Given the description of an element on the screen output the (x, y) to click on. 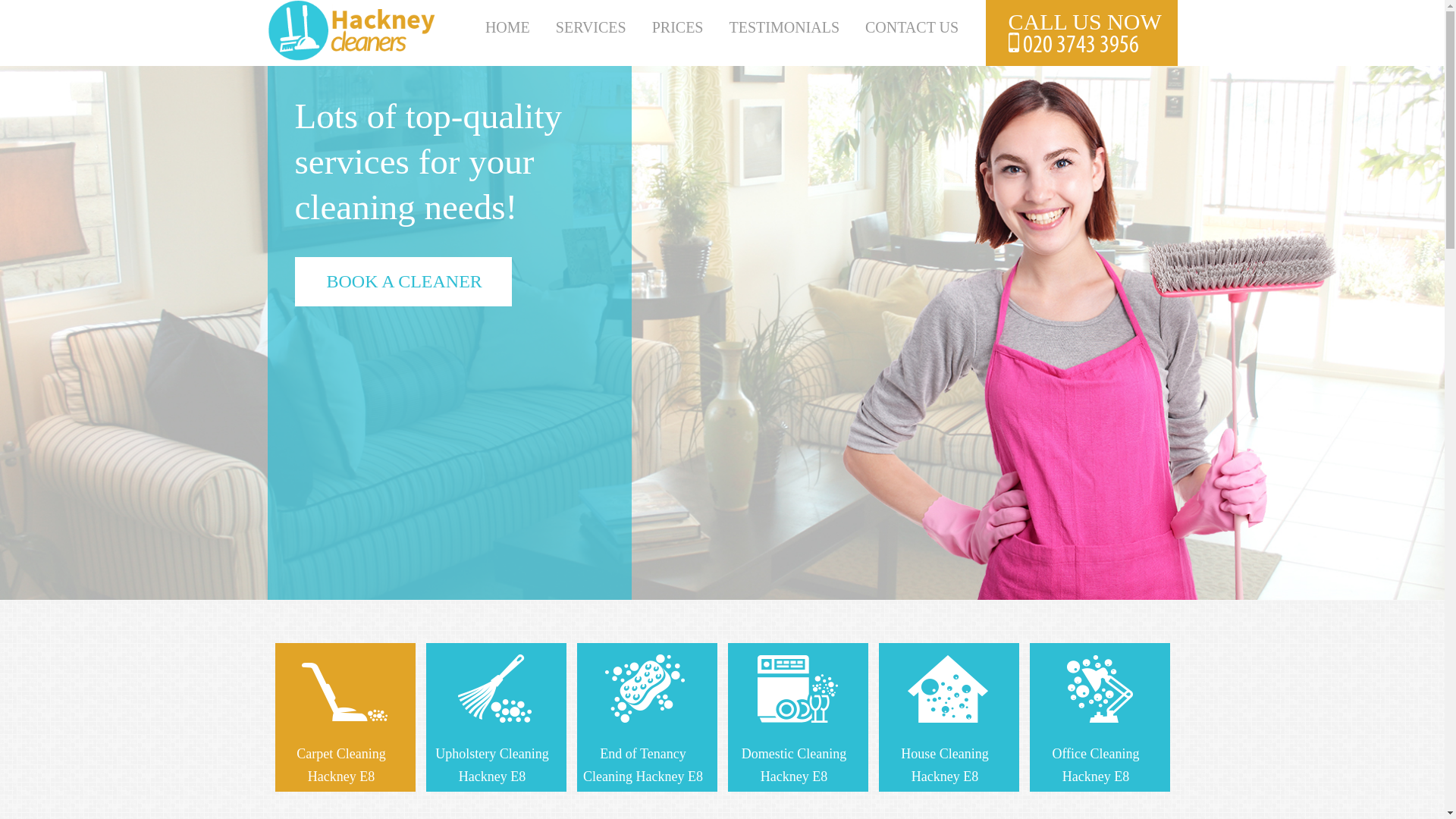
TESTIMONIALS (784, 27)
Hackney Cleaners (352, 56)
BOOK A CLEANER (402, 327)
PRICES (677, 27)
CONTACT US (911, 27)
BOOK A CLEANER (402, 281)
SERVICES (591, 27)
